Given the description of an element on the screen output the (x, y) to click on. 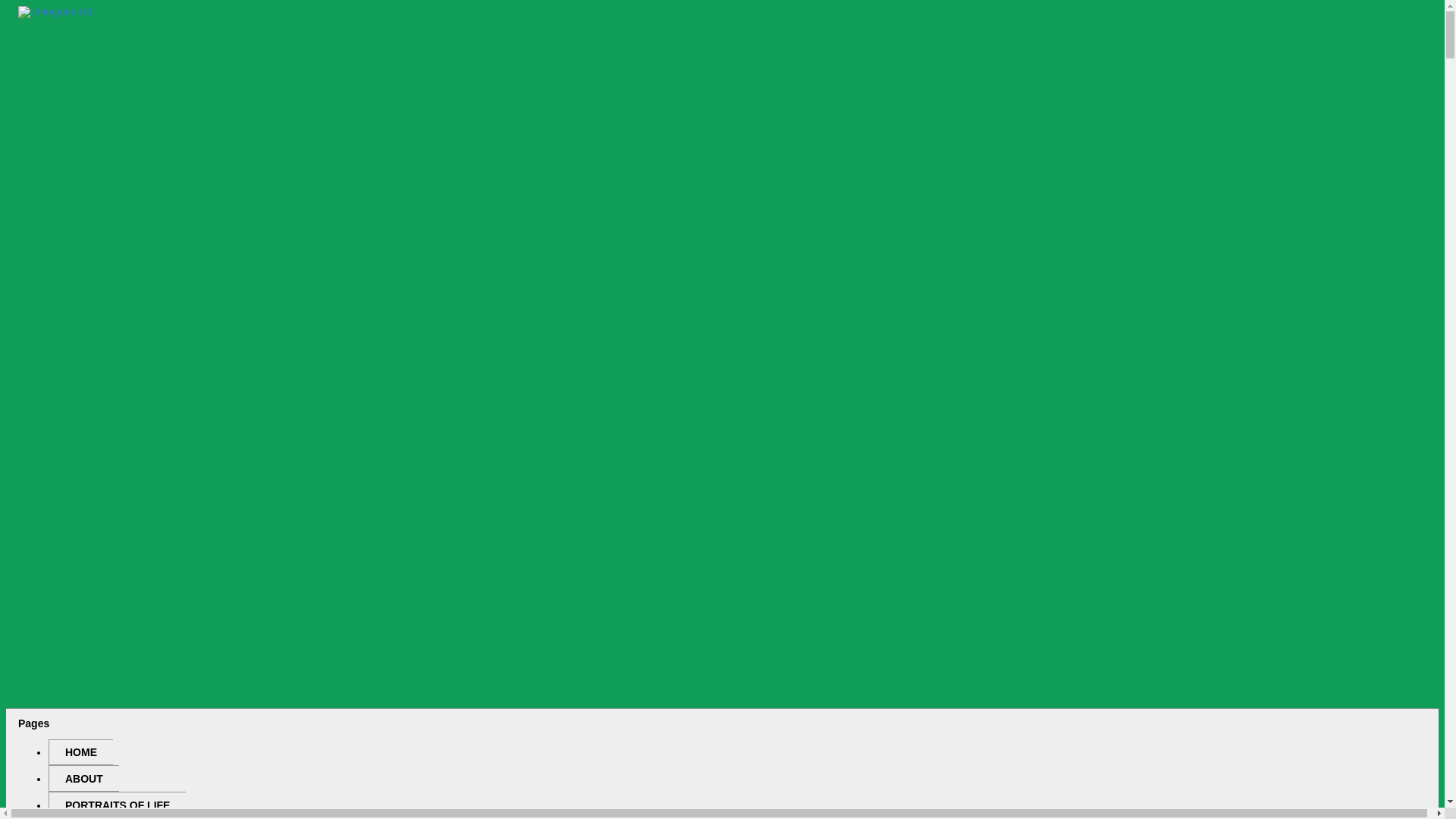
HOME (80, 752)
PORTRAITS OF LIFE (117, 804)
ABOUT (83, 777)
